Given the description of an element on the screen output the (x, y) to click on. 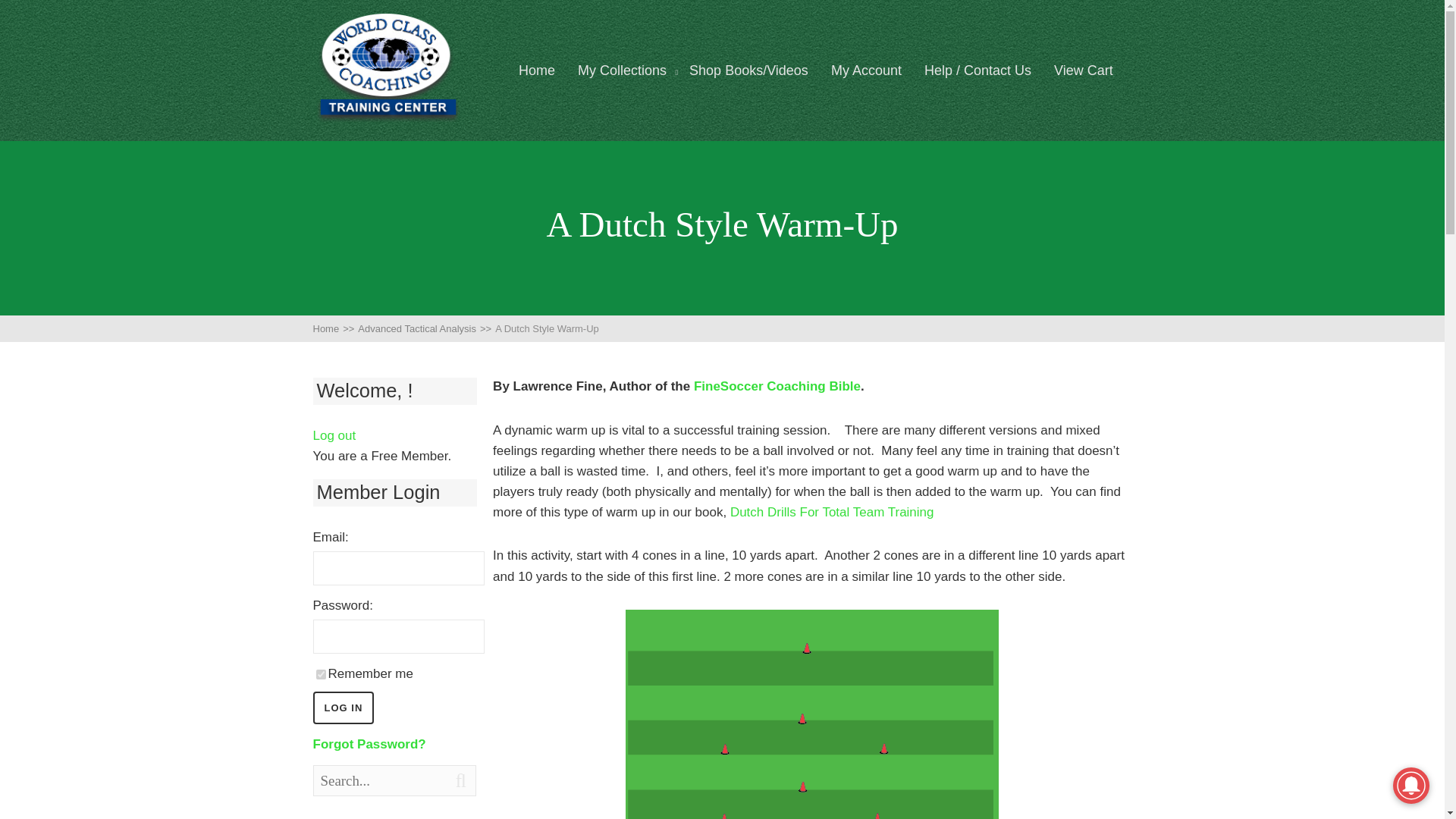
Log out (334, 435)
forever (319, 674)
FineSoccer Coaching Bible (777, 386)
blog003a (812, 714)
Forgot Password? (369, 744)
My Collections (622, 70)
Log In (343, 707)
Logout (334, 435)
Home (536, 70)
Log In (343, 707)
